Given the description of an element on the screen output the (x, y) to click on. 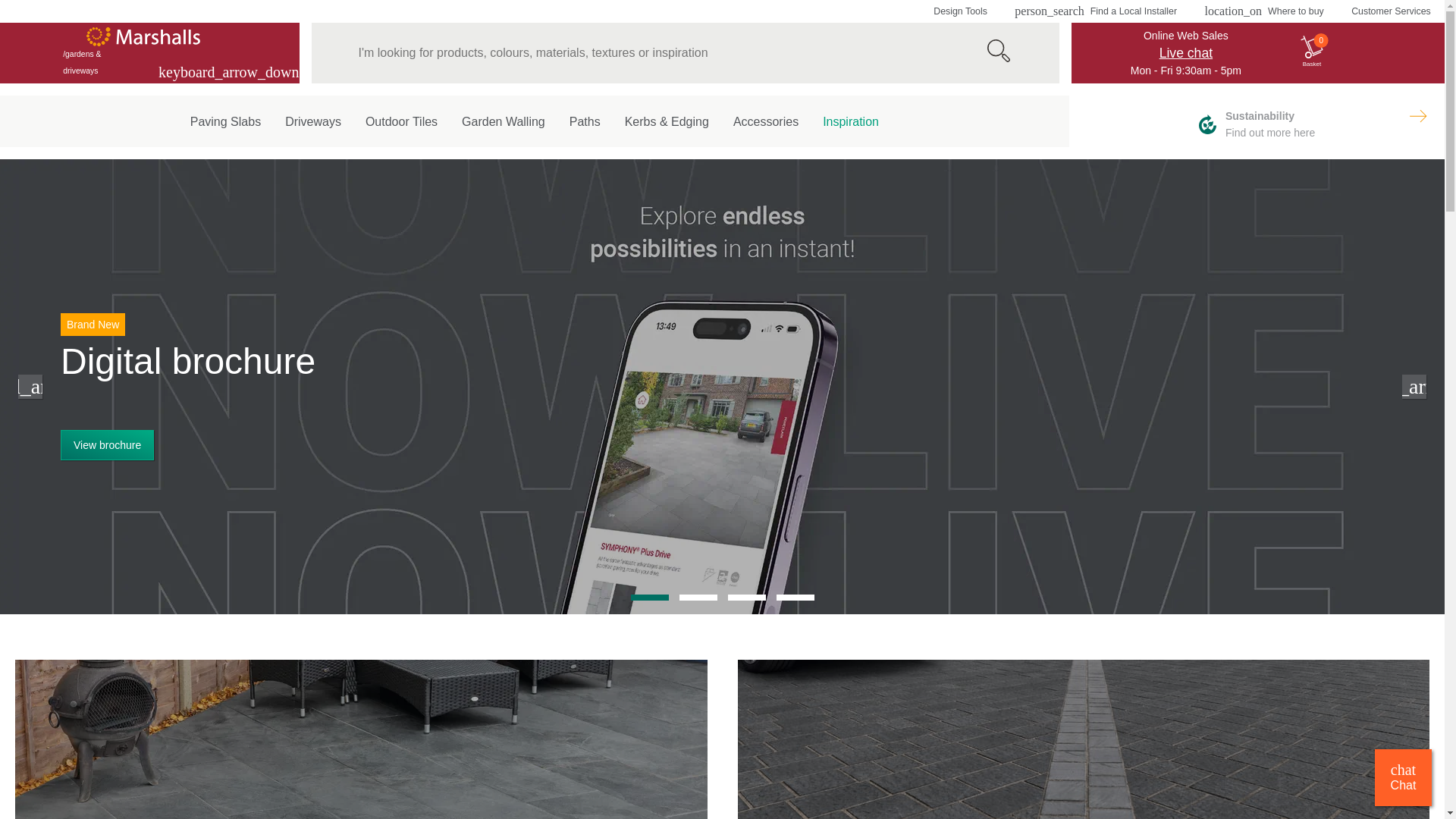
Find a Local Installer (1095, 11)
Paving Slabs (225, 118)
Design Tools (959, 11)
Next (1420, 120)
Where to buy (1263, 11)
Customer Services (1390, 11)
